Given the description of an element on the screen output the (x, y) to click on. 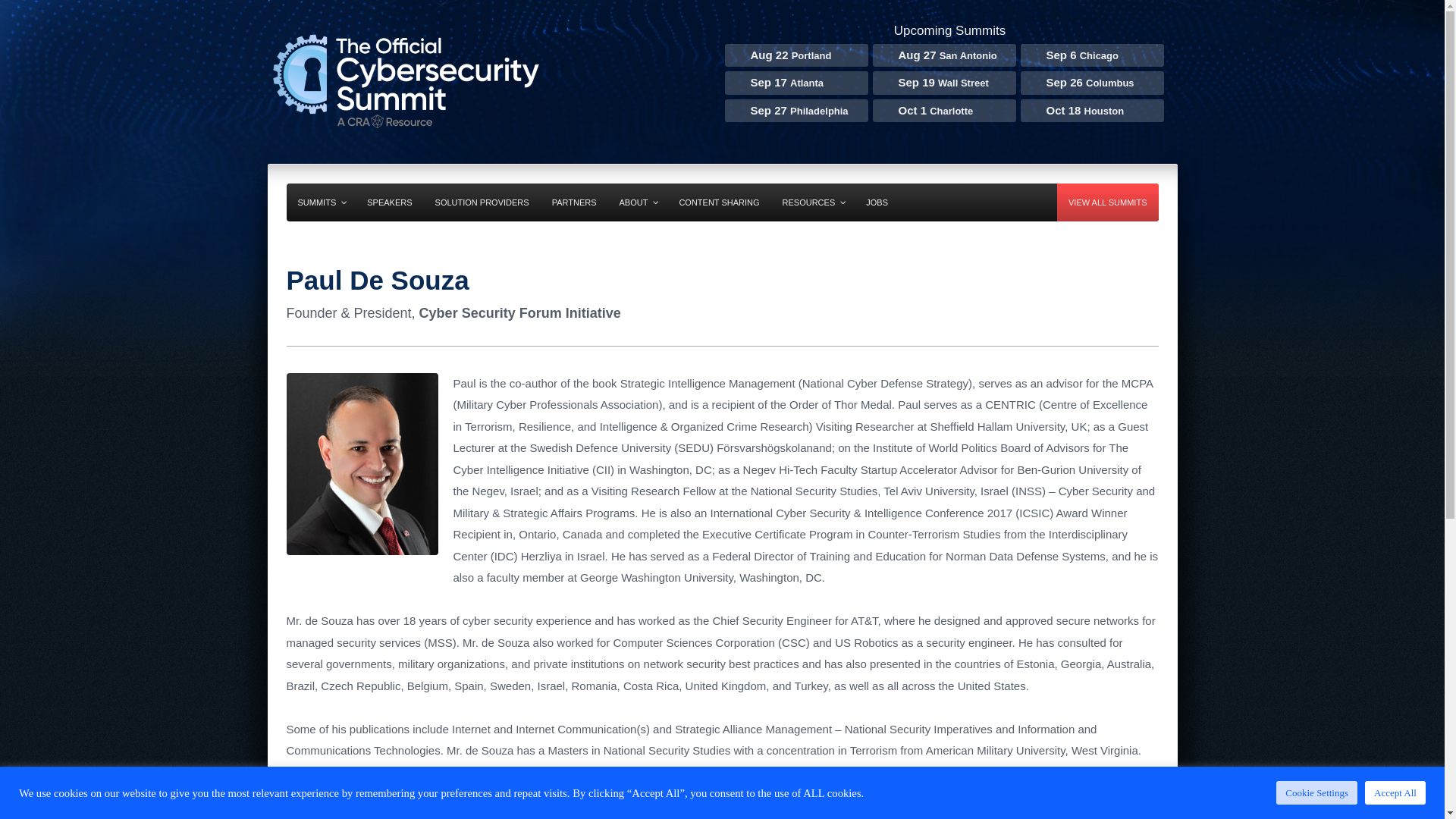
Oct 1 Charlotte (944, 111)
Sep 19 Wall Street (944, 83)
Sep 27 Philadelphia (795, 111)
Aug 22 Portland (795, 55)
Sep 17 Atlanta (795, 83)
Oct 18 Houston (1091, 111)
Sep 6 Chicago (1091, 55)
SUMMITS (321, 202)
Sep 26 Columbus (1091, 83)
Aug 27 San Antonio (944, 55)
